Given the description of an element on the screen output the (x, y) to click on. 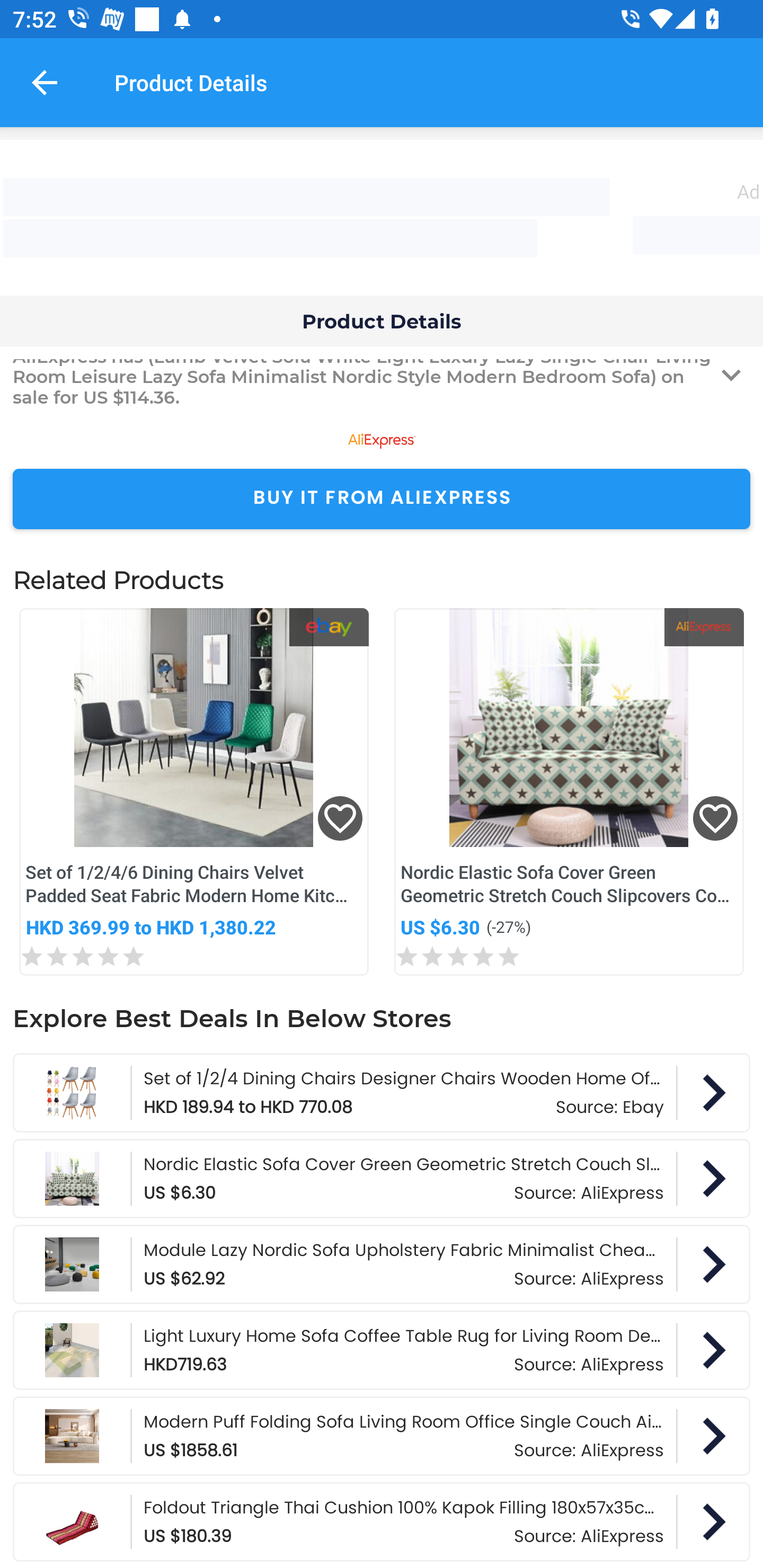
Navigate up (44, 82)
BUY IT FROM ALIEXPRESS (381, 499)
